Given the description of an element on the screen output the (x, y) to click on. 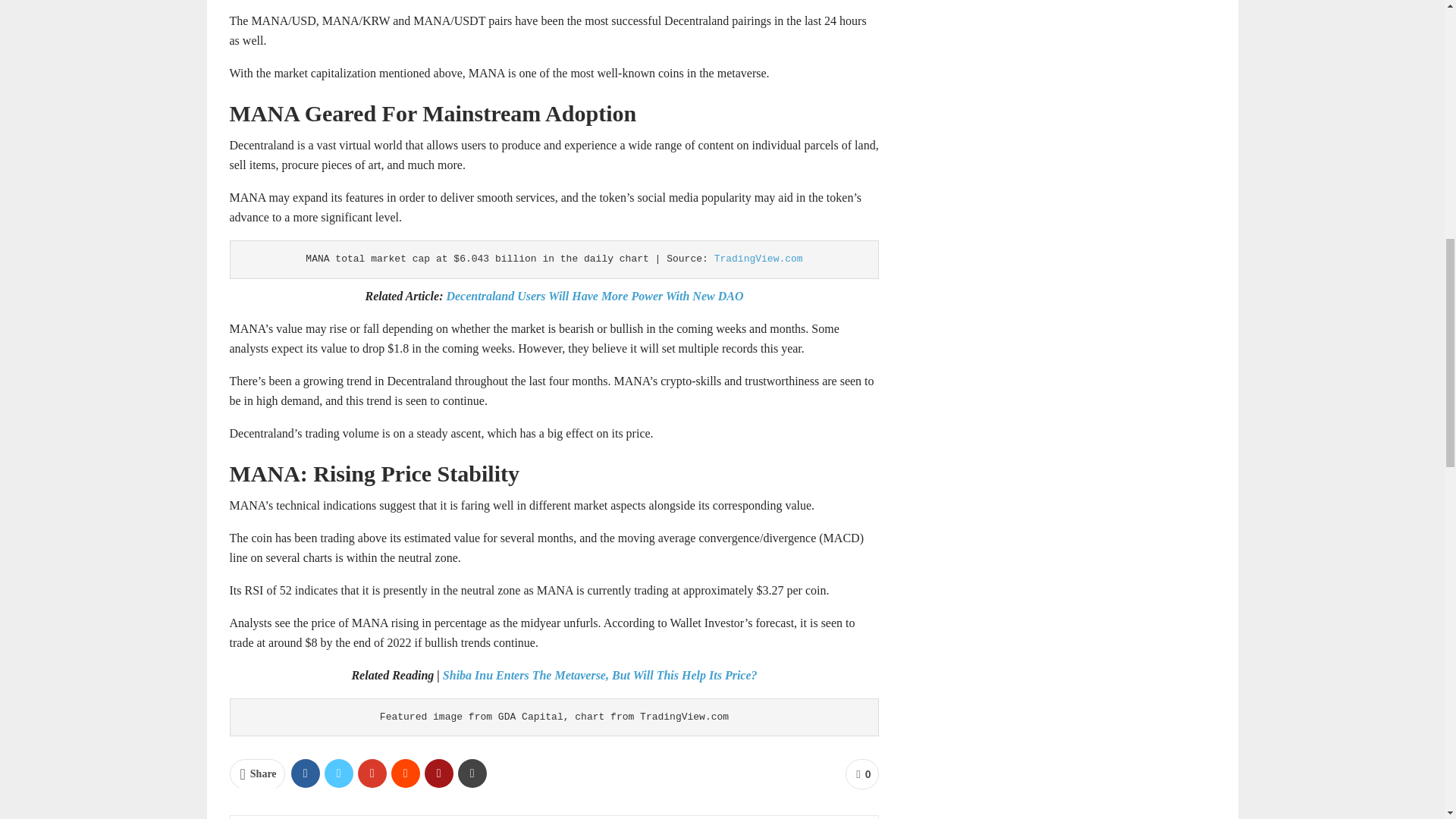
0 (862, 774)
TradingView.com (758, 258)
Decentraland Users Will Have More Power With New DAO (592, 295)
